Given the description of an element on the screen output the (x, y) to click on. 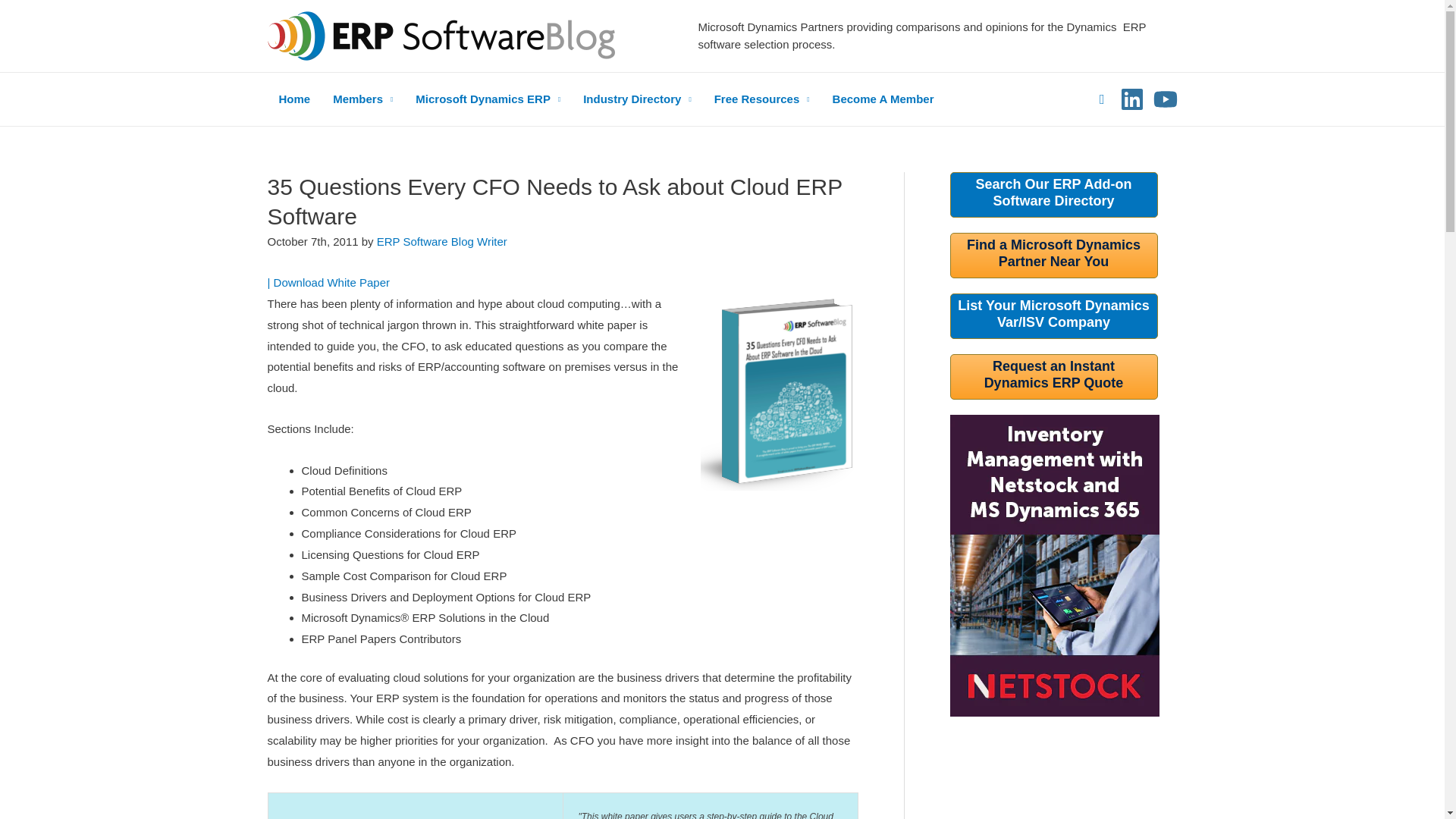
Members (362, 99)
Find a Microsoft Dynamics Partner near you (1053, 314)
Home (293, 99)
Microsoft Dynamics ERP (488, 99)
Request an instant Microsoft Dynamics GP Quote (1054, 374)
This white paper is available for download (331, 282)
Find a Microsoft Dynamics Partner near you (1053, 253)
ERP Add-on Directory (1053, 192)
Industry Directory (637, 99)
